Given the description of an element on the screen output the (x, y) to click on. 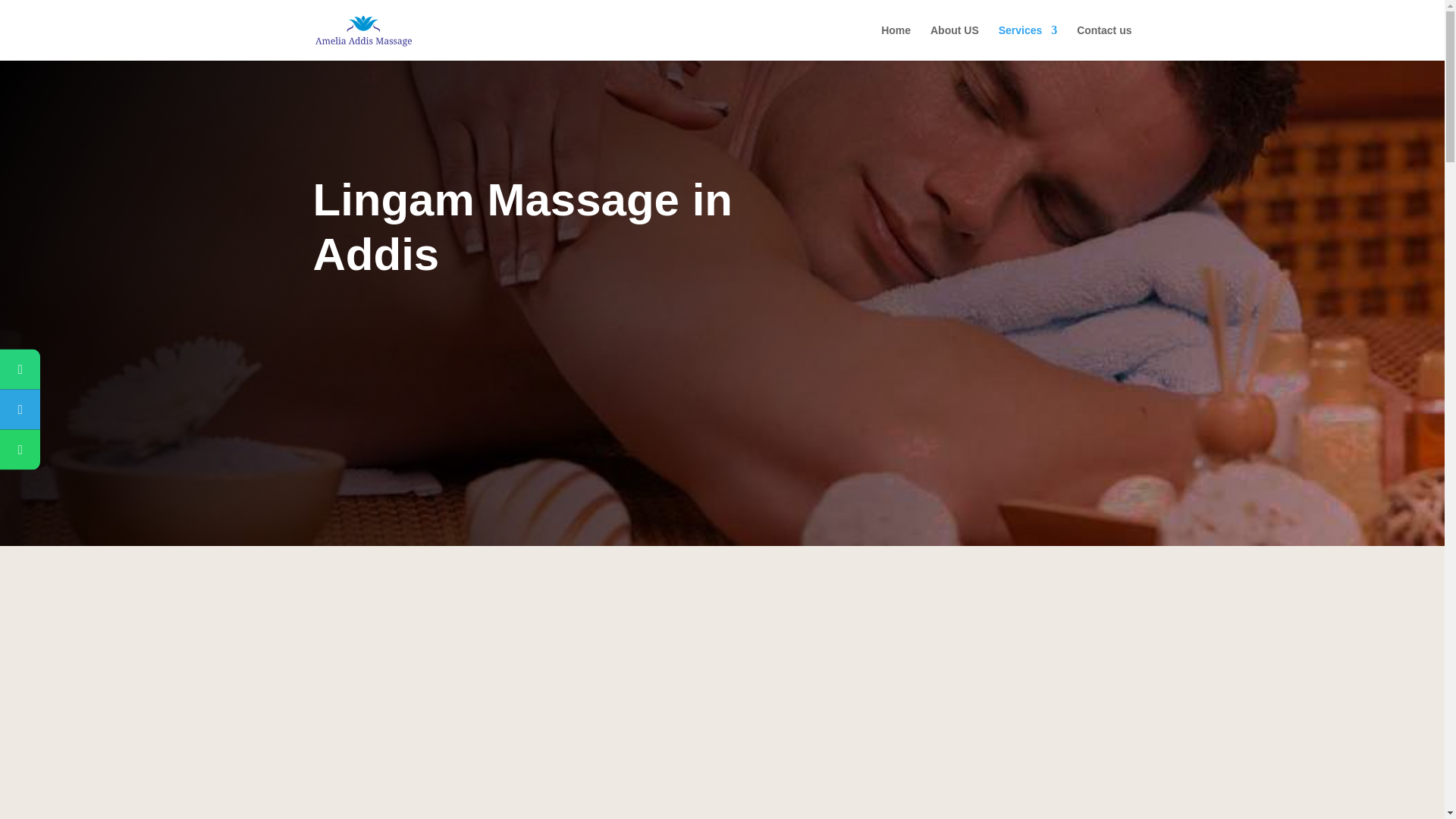
Services (1028, 42)
WhatsApp (92, 449)
Telegram (92, 409)
Contact us (1104, 42)
Phone (92, 368)
About US (954, 42)
